Given the description of an element on the screen output the (x, y) to click on. 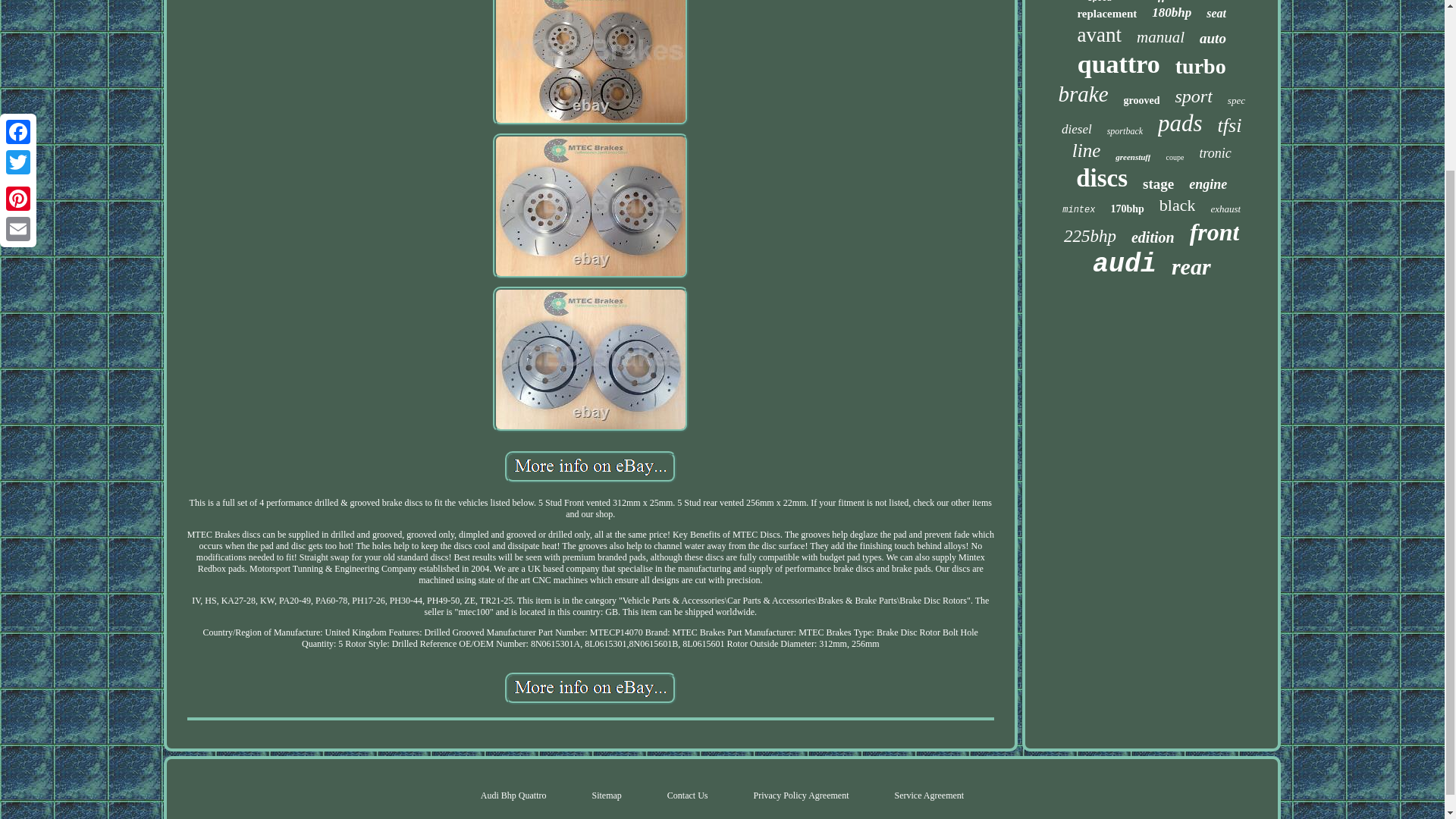
sportback (1124, 131)
sport (1192, 96)
greenstuff (1132, 156)
brake (1083, 94)
Email (17, 19)
grooved (1142, 101)
replacement (1107, 13)
seat (1216, 13)
line (1085, 150)
AUDI TT Quattro 225 Bhp Drilled Grooved Brake Discs x 4 (590, 63)
redstuff (1146, 1)
312mm (1197, 1)
turbo (1199, 66)
diesel (1076, 129)
manual (1161, 36)
